Given the description of an element on the screen output the (x, y) to click on. 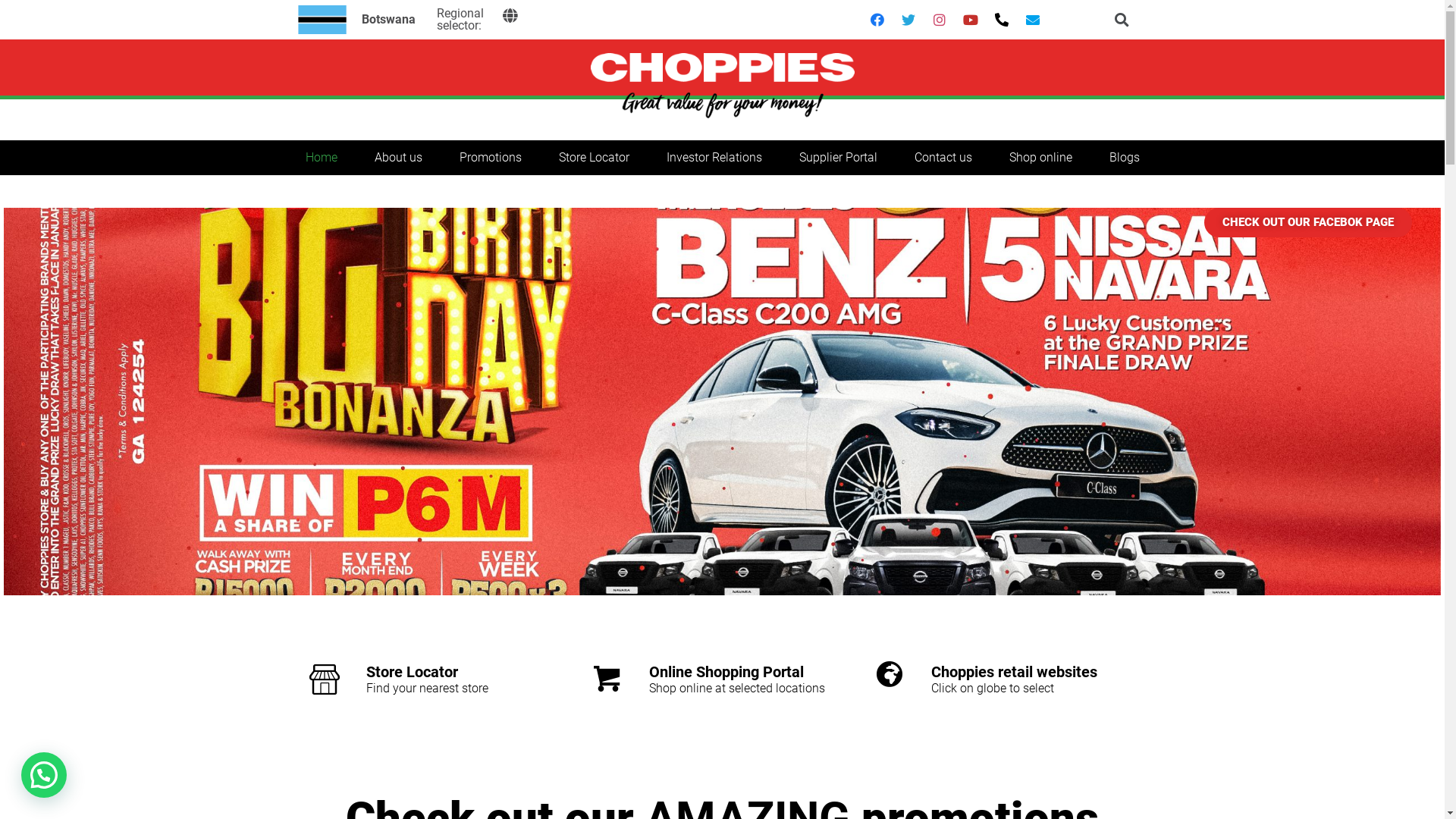
Store Locator Element type: text (412, 671)
Online Shopping Portal Element type: text (726, 671)
Shop online Element type: text (1039, 157)
Blogs Element type: text (1123, 157)
CHECK OUT OUR FACEBOK PAGE Element type: text (1308, 222)
Promotions Element type: text (490, 157)
Home Element type: text (320, 157)
About us Element type: text (398, 157)
Store Locator Element type: text (592, 157)
Supplier Portal Element type: text (838, 157)
Investor Relations Element type: text (713, 157)
Contact us Element type: text (943, 157)
